Given the description of an element on the screen output the (x, y) to click on. 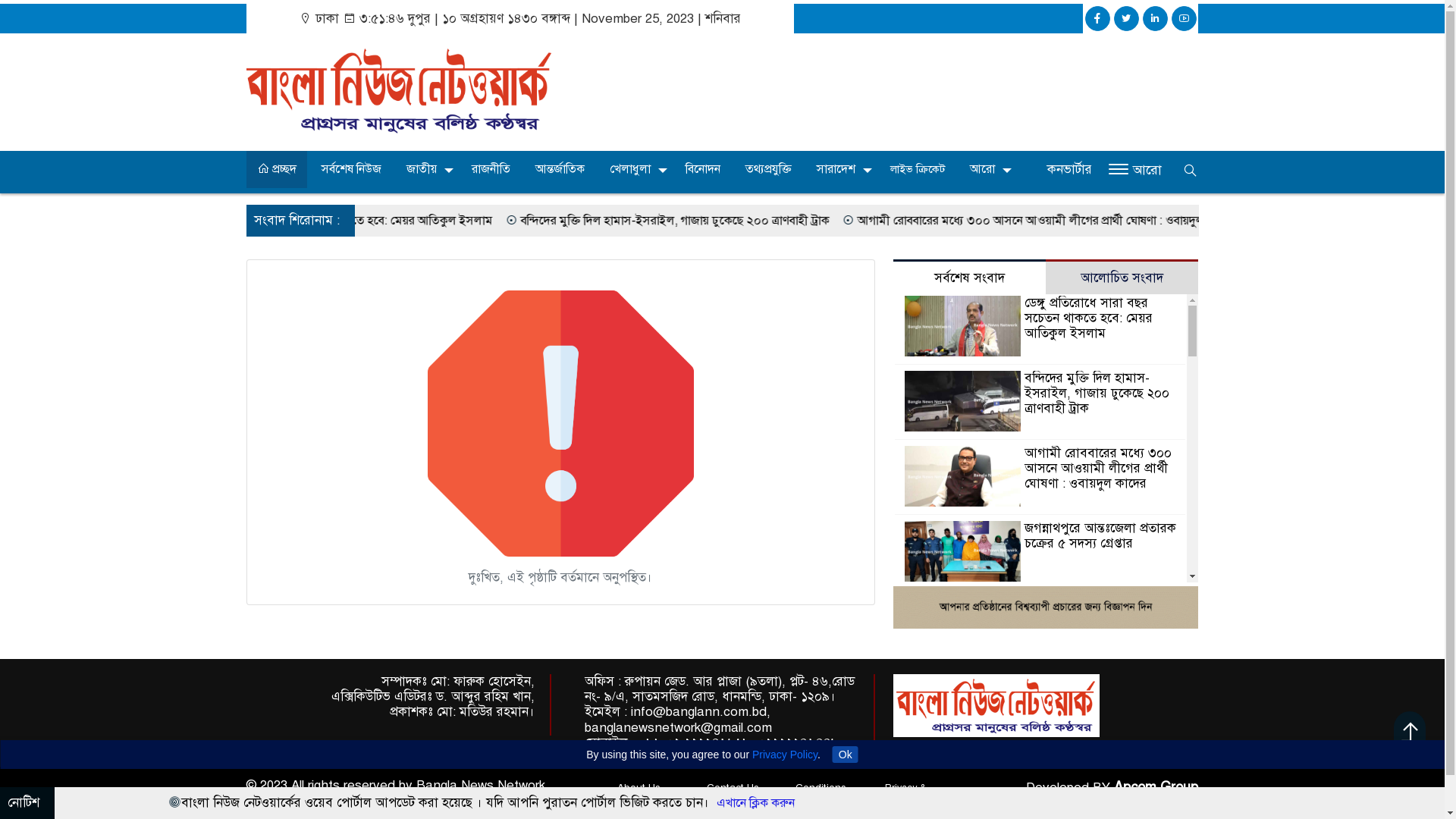
Bangla News Network Element type: hover (996, 705)
Privacy Policy Element type: text (784, 754)
linkedin Element type: hover (1154, 18)
Contact Us Element type: text (732, 786)
Bangla News Network Element type: hover (398, 91)
Conditions Element type: text (820, 786)
youtube Element type: hover (1183, 18)
Advertisement Element type: hover (883, 91)
Ok Element type: text (845, 754)
Apcom Group Element type: text (1155, 786)
facebook Element type: hover (1097, 18)
twitter Element type: hover (1126, 18)
Privacy & Policy Element type: text (905, 795)
About Us Element type: text (638, 786)
